Given the description of an element on the screen output the (x, y) to click on. 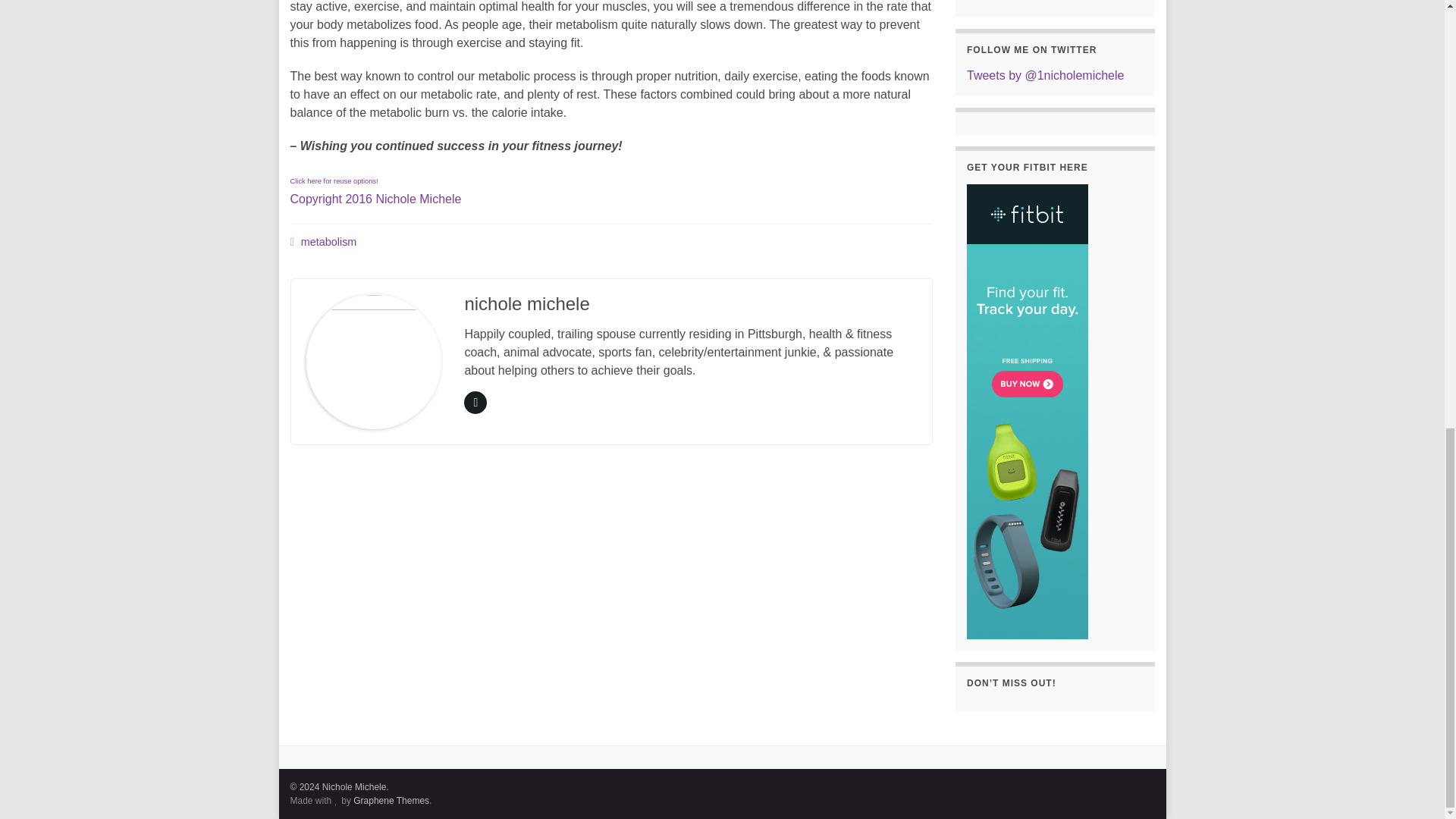
metabolism (375, 188)
